Given the description of an element on the screen output the (x, y) to click on. 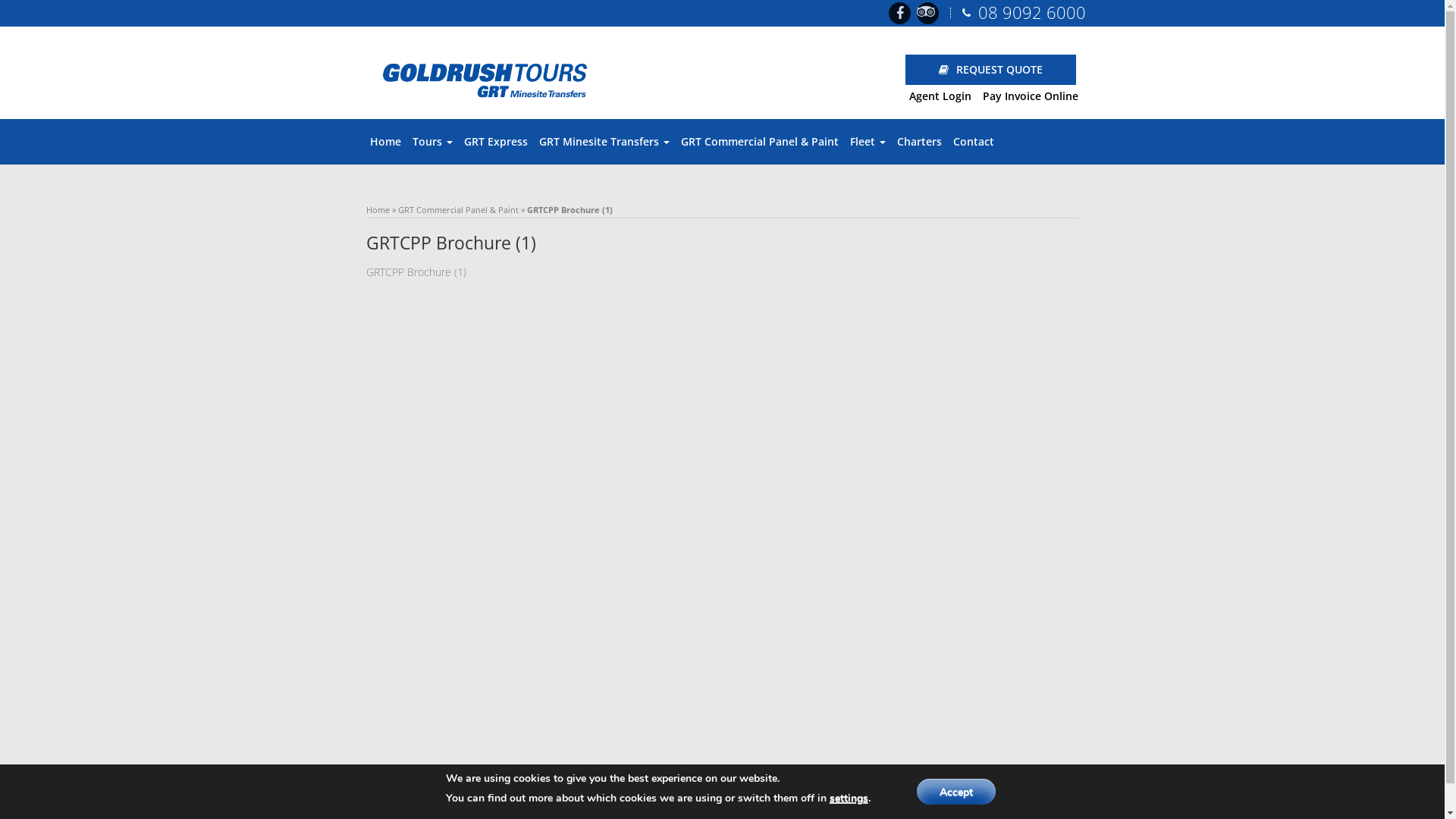
GRT Commercial Panel & Paint Element type: text (457, 209)
Pay Invoice Online Element type: text (1030, 96)
Goldrush Tours Element type: hover (487, 77)
Tours Element type: text (432, 141)
Tours Element type: text (855, 806)
GRT Minesite Transfers Element type: text (603, 141)
Contact Element type: text (972, 141)
GRTCPP Brochure (1) Element type: text (582, 804)
settings Element type: text (848, 798)
Home Element type: text (385, 141)
Contact Element type: text (895, 806)
GRT Express Element type: text (495, 141)
GRT Minesite Transfers Element type: text (410, 803)
Agent Login Element type: text (940, 96)
Terms & Conditions Element type: text (1031, 806)
Charters Element type: text (918, 141)
Home Element type: text (377, 209)
Accept Element type: text (955, 791)
REQUEST QUOTE Element type: text (995, 69)
Privacy Policy Element type: text (950, 806)
GRT Commercial Panel & Paint Element type: text (759, 141)
08 9092 6000 Element type: text (1031, 11)
GRTCPP Brochure (1) Element type: text (415, 271)
Fleet Element type: text (866, 141)
Home Element type: text (819, 806)
